Given the description of an element on the screen output the (x, y) to click on. 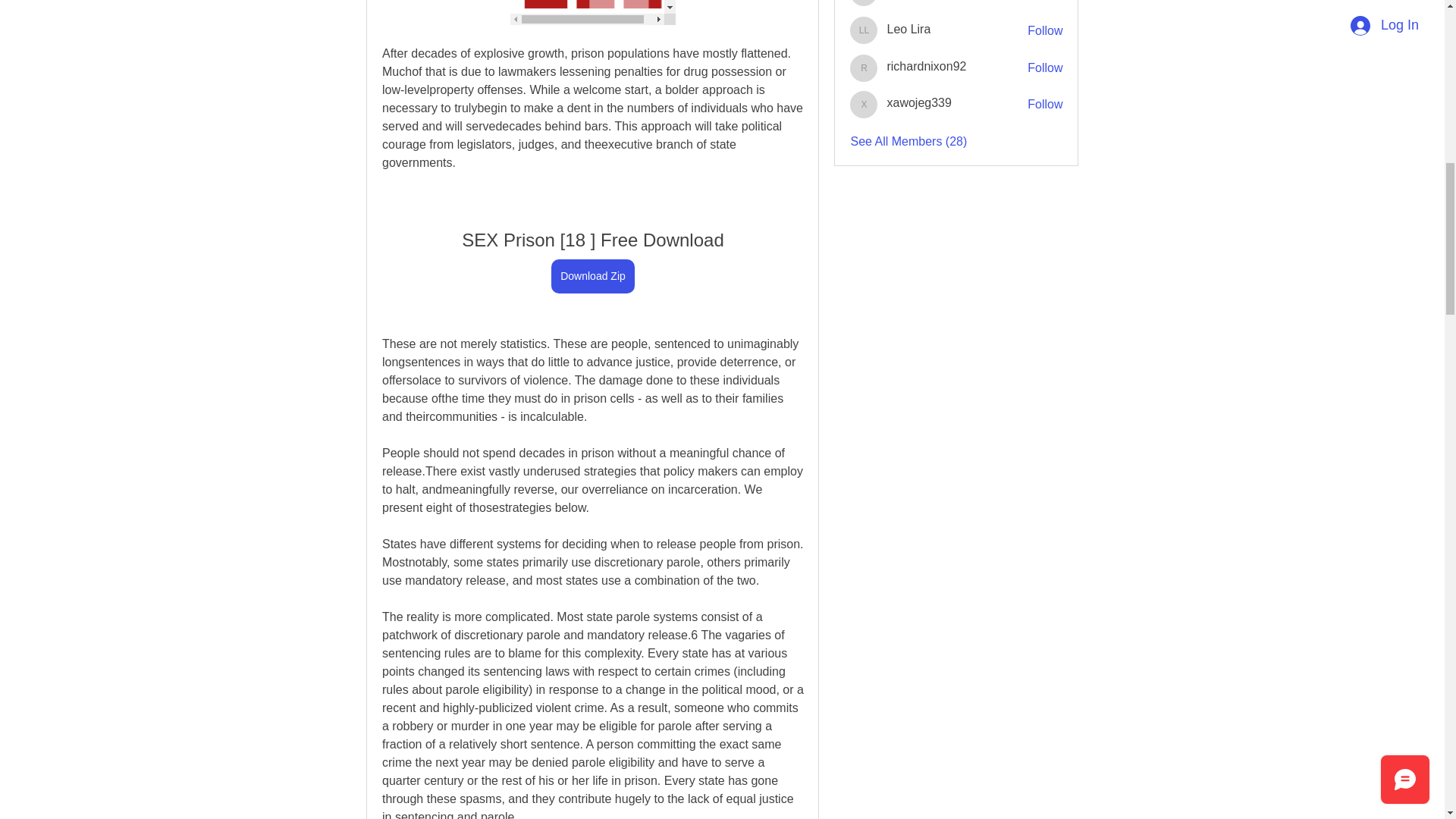
Leo Lira (863, 30)
Ronaldo Jason (863, 2)
Follow (1044, 0)
Follow (1044, 67)
xawojeg339 (918, 102)
richardnixon92 (863, 67)
Follow (1044, 30)
remote content (592, 12)
xawojeg339 (863, 103)
richardnixon92 (926, 65)
Download Zip (592, 276)
Follow (1044, 104)
